Given the description of an element on the screen output the (x, y) to click on. 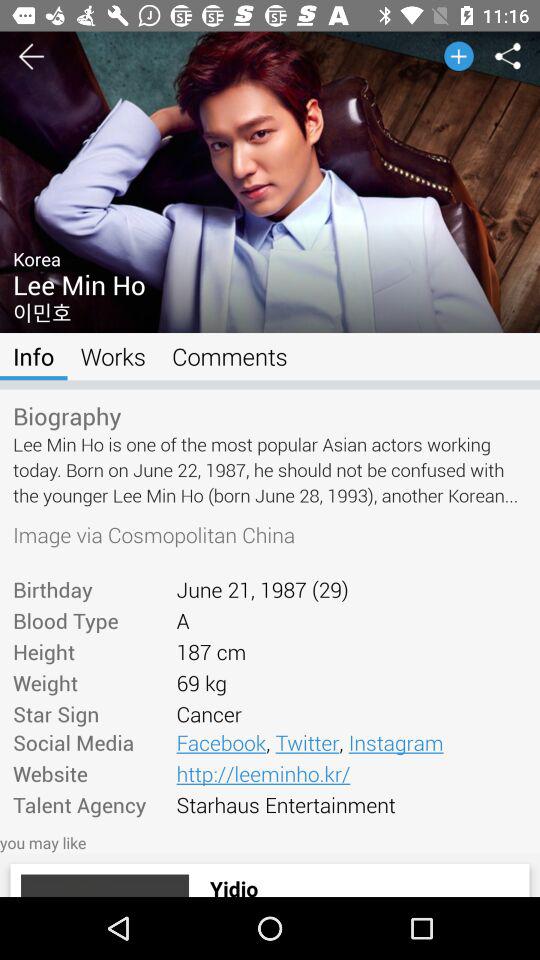
scroll until facebook, twitter, instagram item (351, 742)
